Given the description of an element on the screen output the (x, y) to click on. 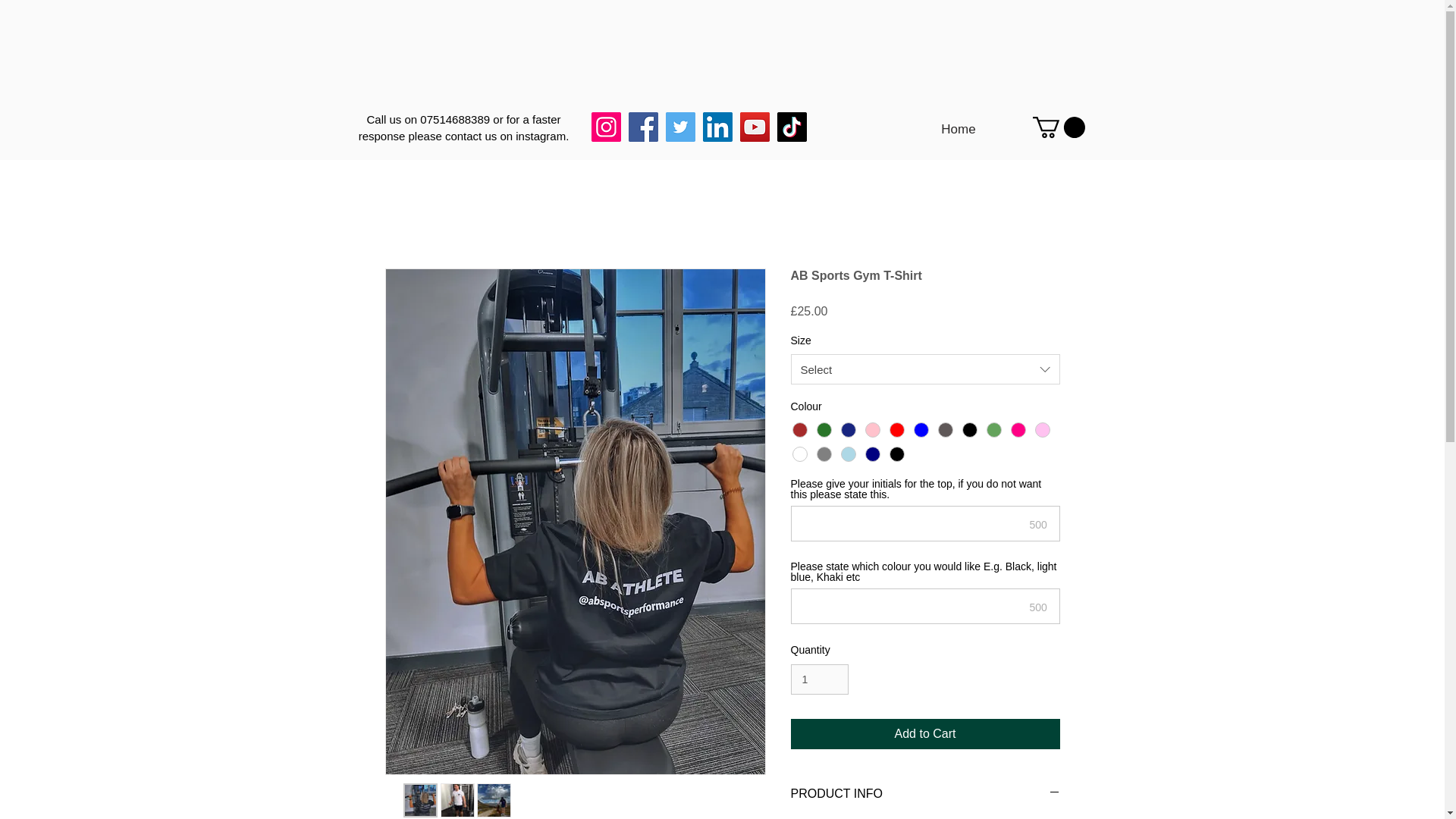
1 (818, 679)
Select (924, 368)
PRODUCT INFO (924, 793)
Add to Cart (924, 734)
Home (958, 129)
